Given the description of an element on the screen output the (x, y) to click on. 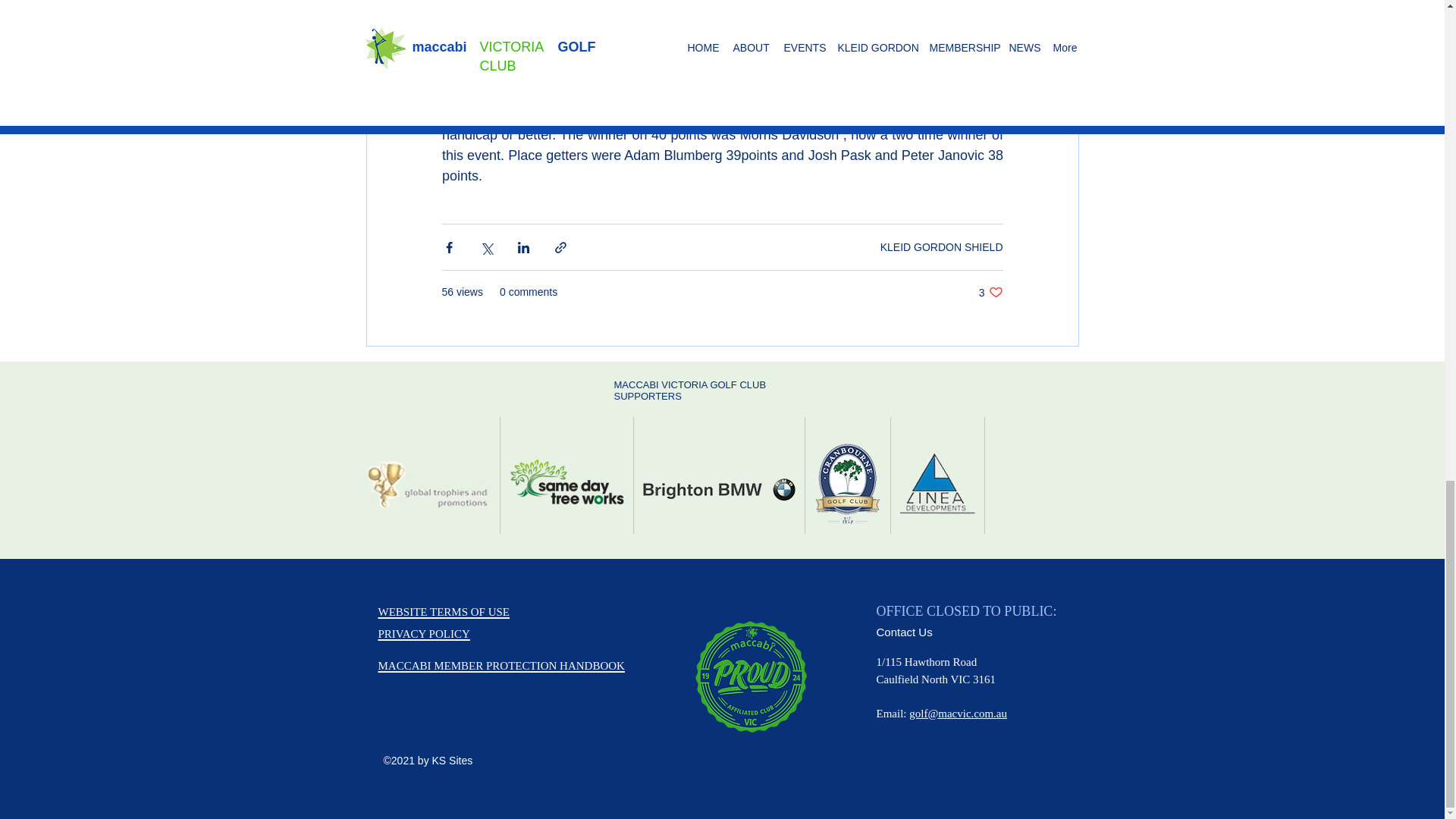
MACCABI MEMBER PROTECTION HANDBOOK (500, 663)
WEBSITE TERMS OF USE (443, 611)
PRIVACY POLICY (990, 292)
KLEID GORDON SHIELD (422, 633)
Email: (941, 246)
